Given the description of an element on the screen output the (x, y) to click on. 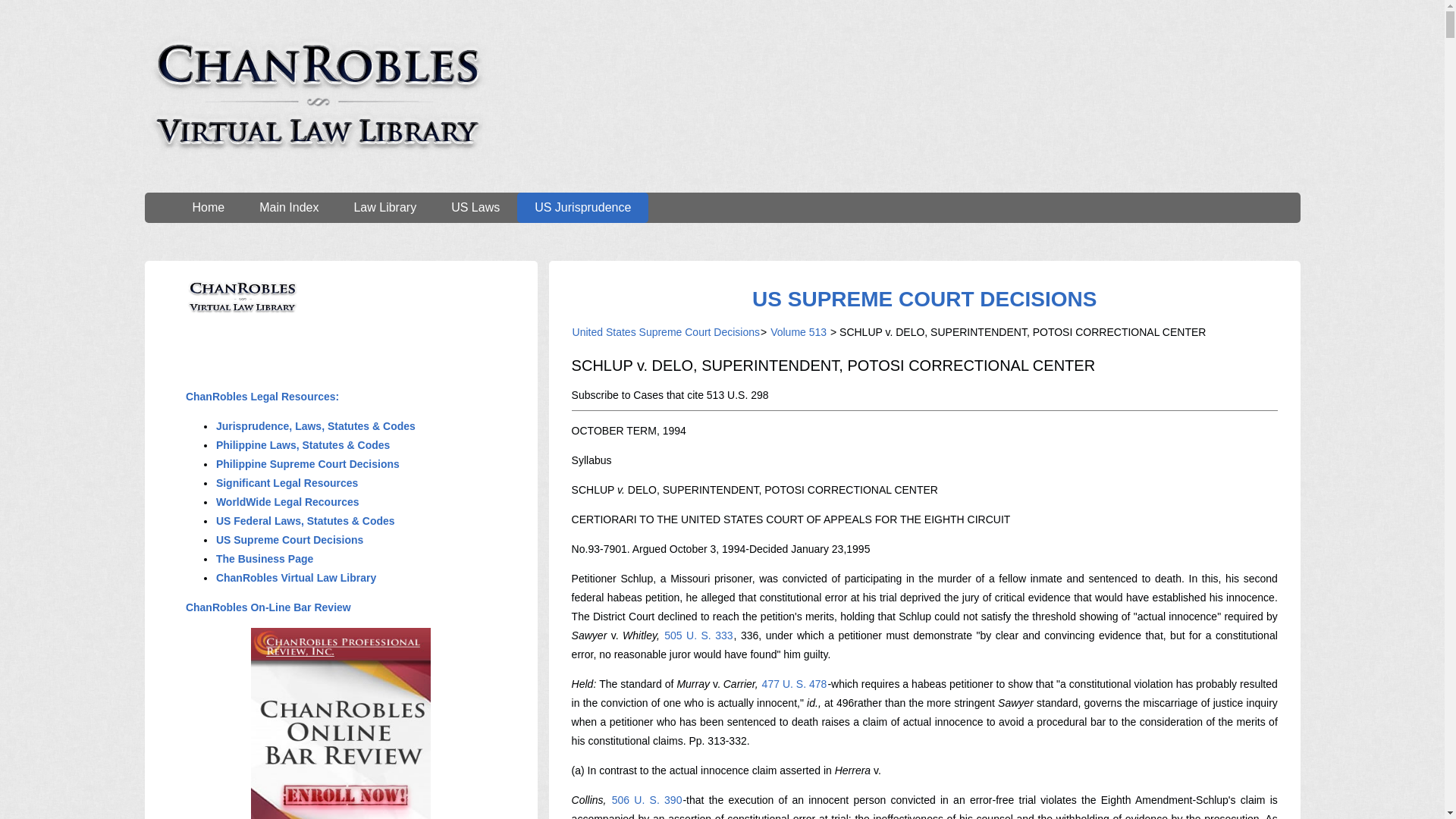
US Laws (474, 207)
United States Supreme Court Decisions - On-Line (924, 299)
US Jurisprudence (581, 207)
US SUPREME COURT DECISIONS (924, 299)
505 U. S. 333 (698, 635)
477 U. S. 478 (794, 684)
Main Index (288, 207)
United States Supreme Court Decisions (666, 331)
506 U. S. 390 (646, 799)
Volume 513 (798, 331)
Law Library (384, 207)
Home (207, 207)
